Given the description of an element on the screen output the (x, y) to click on. 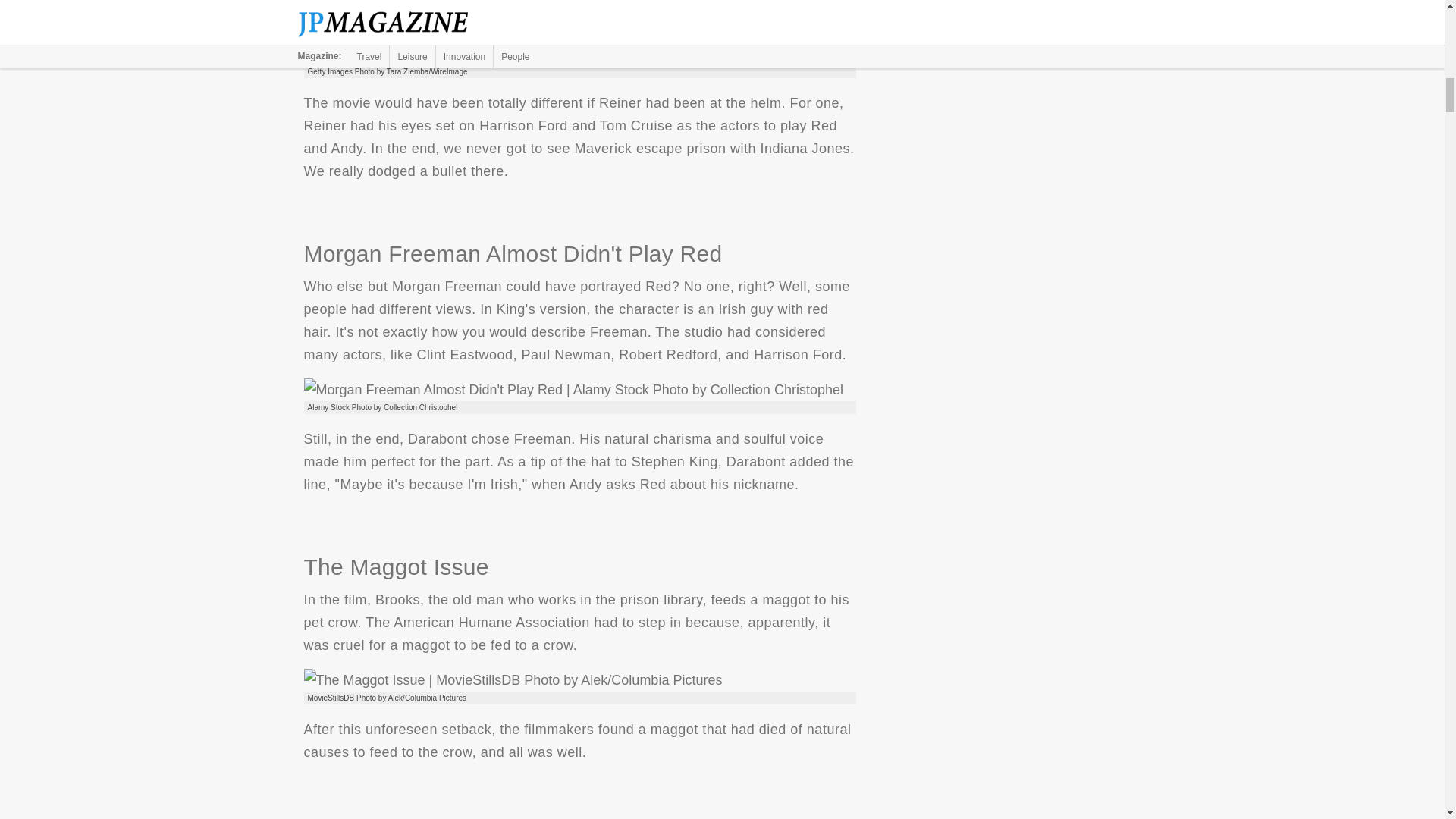
The Maggot Issue (512, 680)
The Film Almost Had a Different Director (579, 42)
Morgan Freeman Almost Didn't Play Red (572, 389)
